Given the description of an element on the screen output the (x, y) to click on. 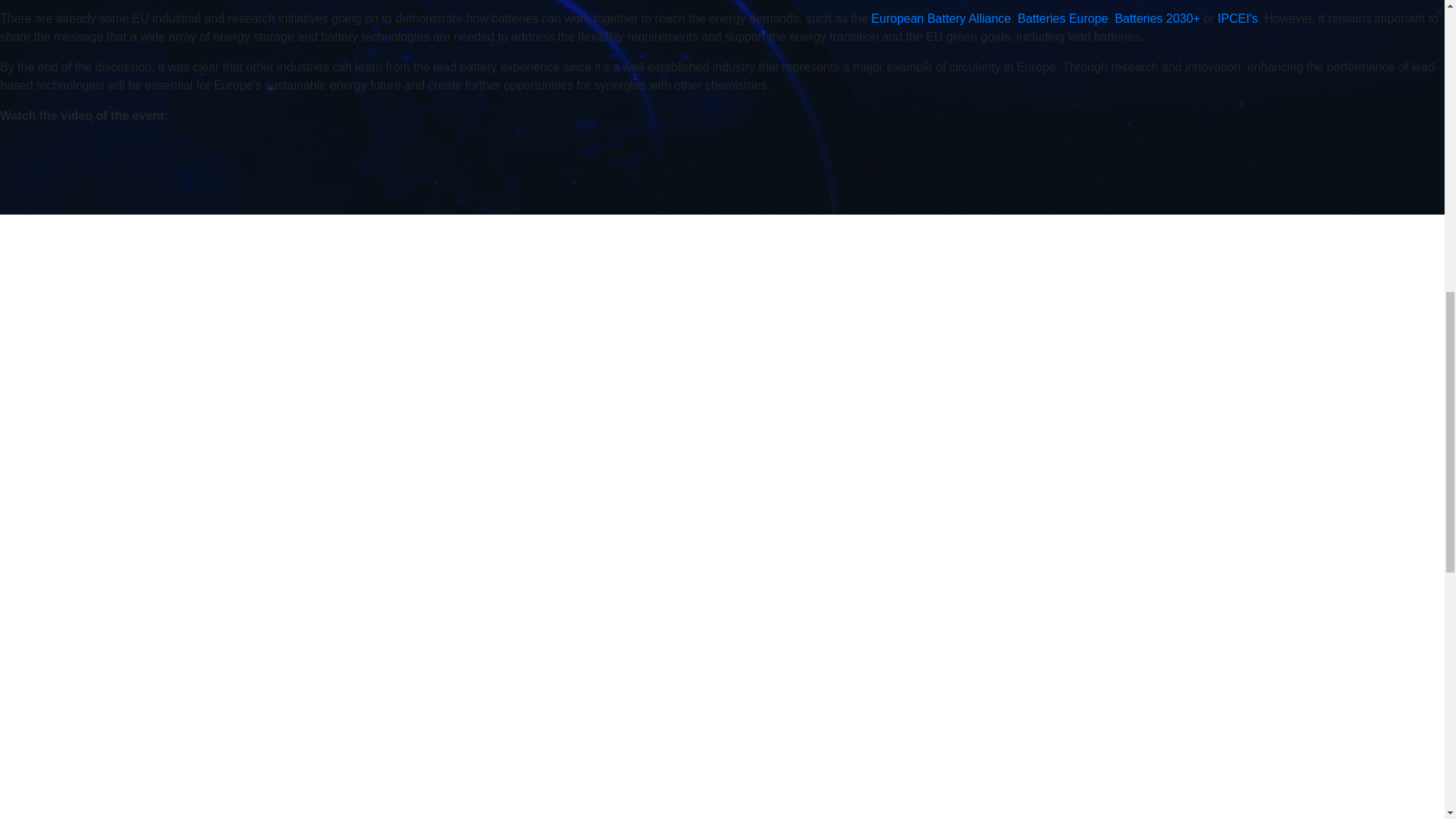
European Battery Alliance (940, 18)
IPCEI's (1237, 18)
Batteries Europe (1062, 18)
